Given the description of an element on the screen output the (x, y) to click on. 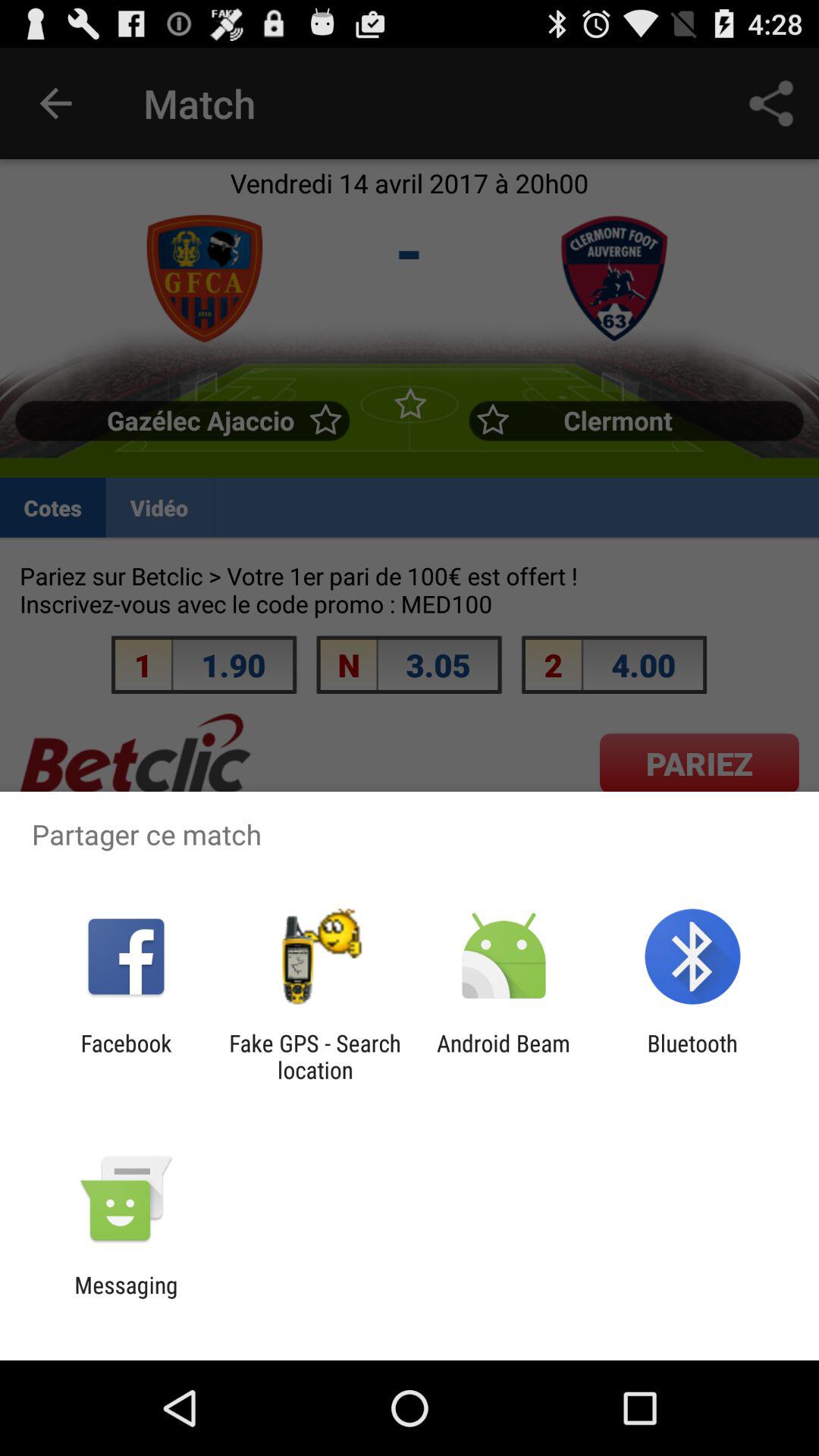
launch the app next to the bluetooth (503, 1056)
